Given the description of an element on the screen output the (x, y) to click on. 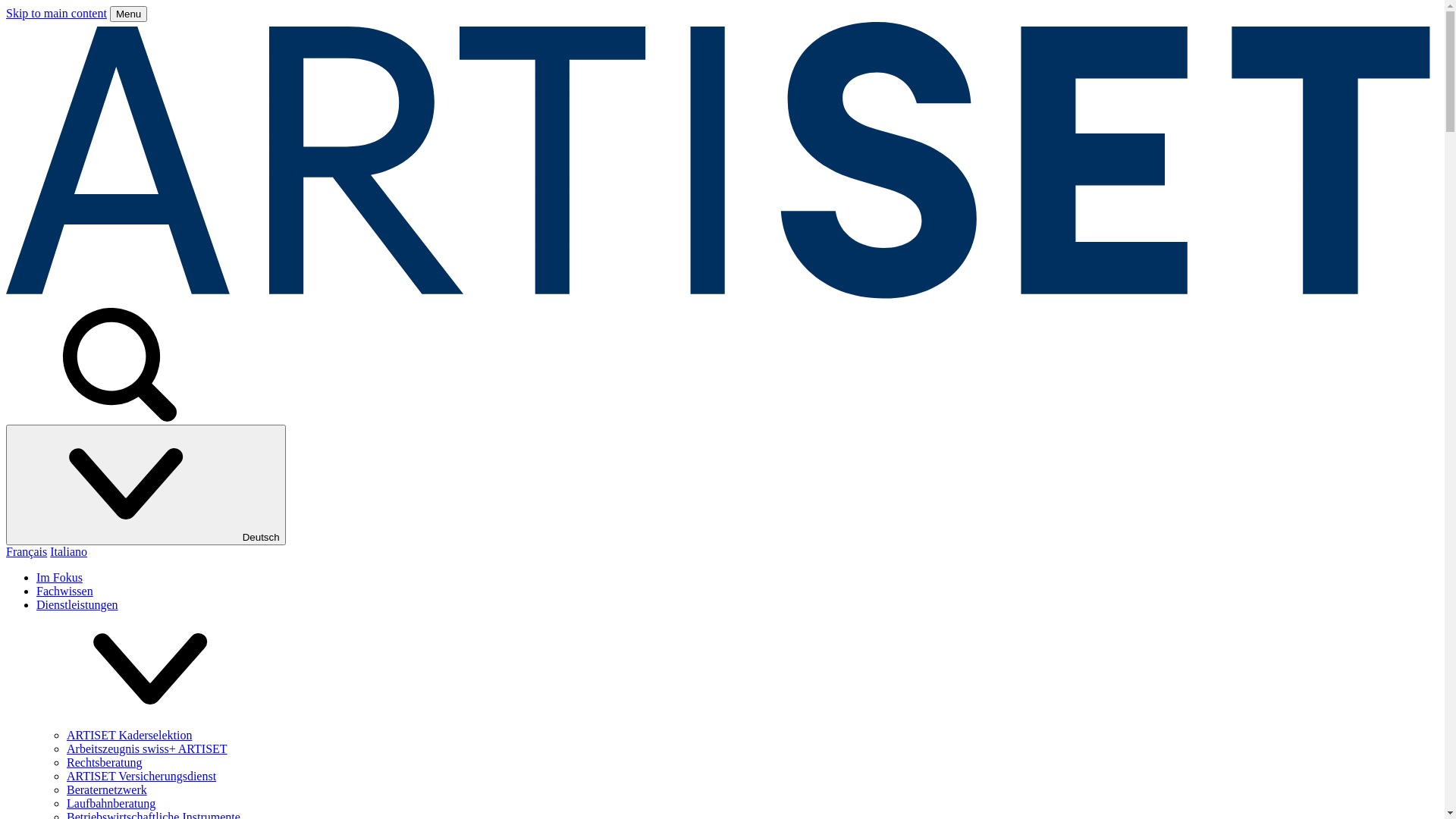
ARTISET Versicherungsdienst Element type: text (141, 775)
Im Fokus Element type: text (59, 577)
Skip to main content Element type: text (56, 12)
Italiano Element type: text (68, 551)
Menu Element type: text (128, 13)
ARTISET Kaderselektion Element type: text (128, 734)
Deutsch Element type: text (145, 484)
Laufbahnberatung Element type: text (110, 803)
Beraternetzwerk Element type: text (106, 789)
Dienstleistungen Element type: text (77, 604)
Arbeitszeugnis swiss+ ARTISET Element type: text (146, 748)
Fachwissen Element type: text (64, 590)
Rechtsberatung Element type: text (104, 762)
